Given the description of an element on the screen output the (x, y) to click on. 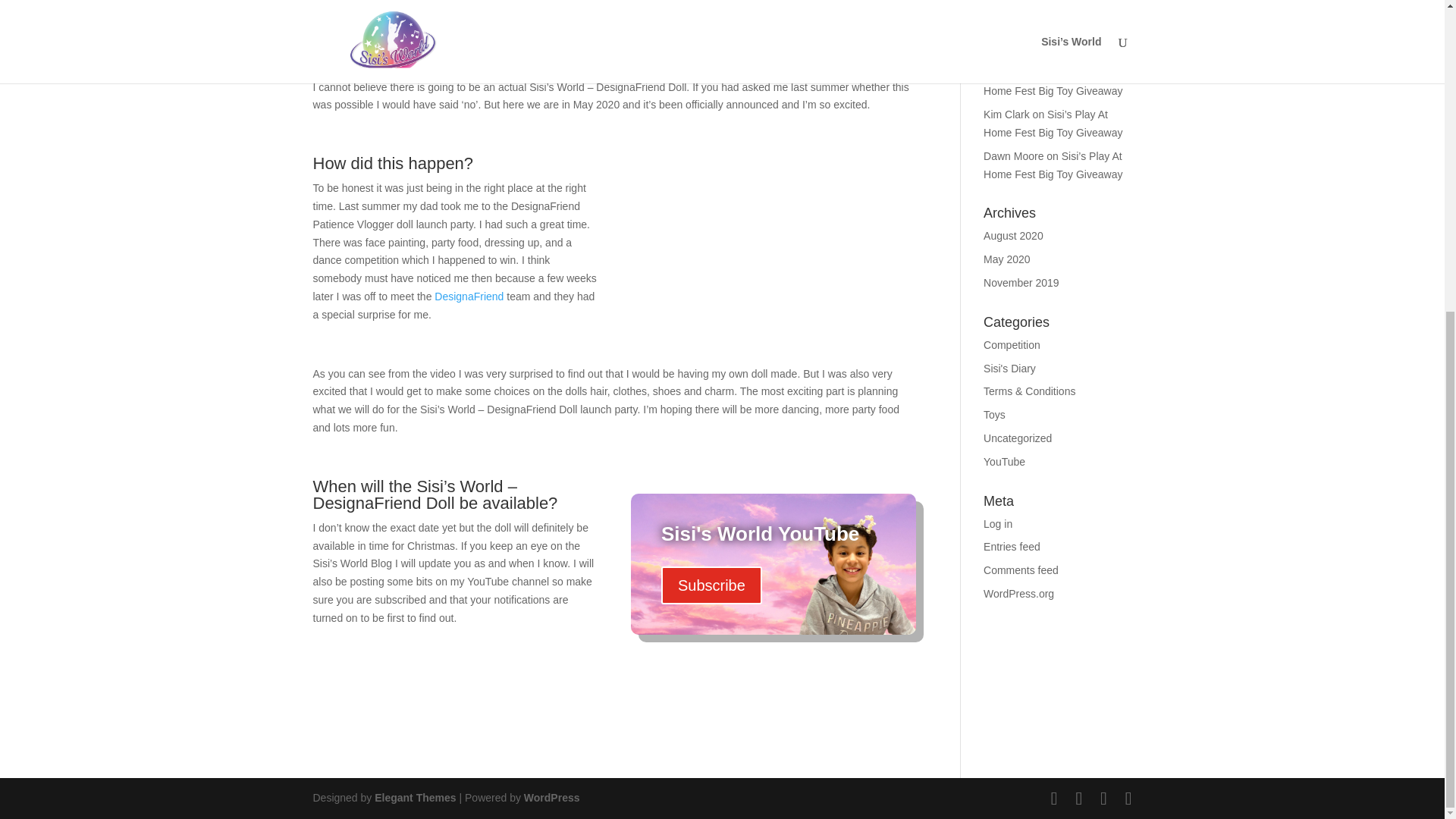
Toys (995, 414)
Elegant Themes (414, 797)
Uncategorized (1017, 438)
YouTube (1004, 461)
Comments feed (1021, 570)
WordPress.org (1019, 593)
WordPress (551, 797)
May 2020 (1006, 259)
Sisi's Diary (1009, 368)
November 2019 (1021, 282)
Subscribe (711, 585)
Premium WordPress Themes (414, 797)
August 2020 (1013, 235)
Log in (997, 523)
DesignaFriend (468, 296)
